Given the description of an element on the screen output the (x, y) to click on. 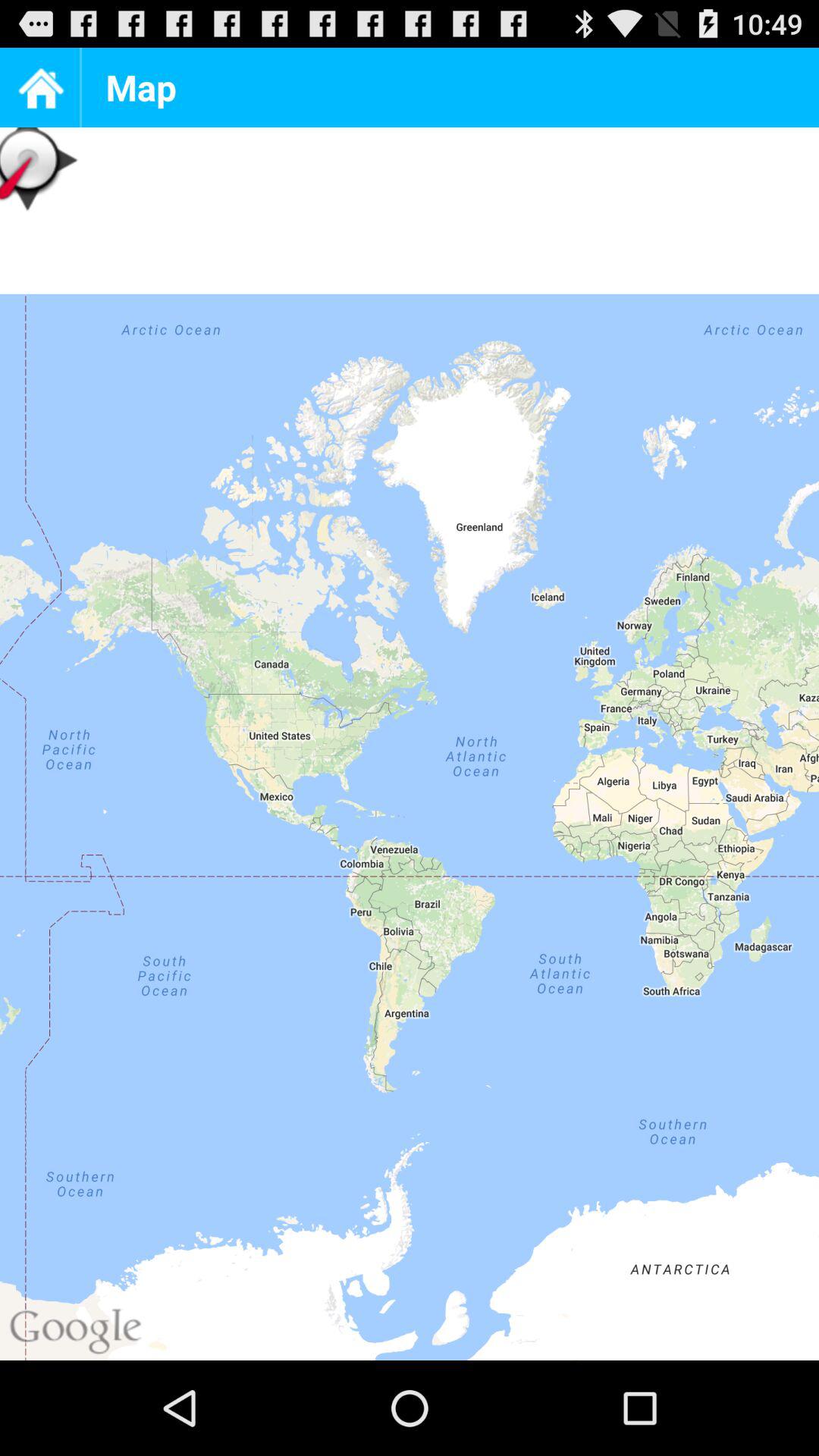
go to home screen (39, 87)
